Given the description of an element on the screen output the (x, y) to click on. 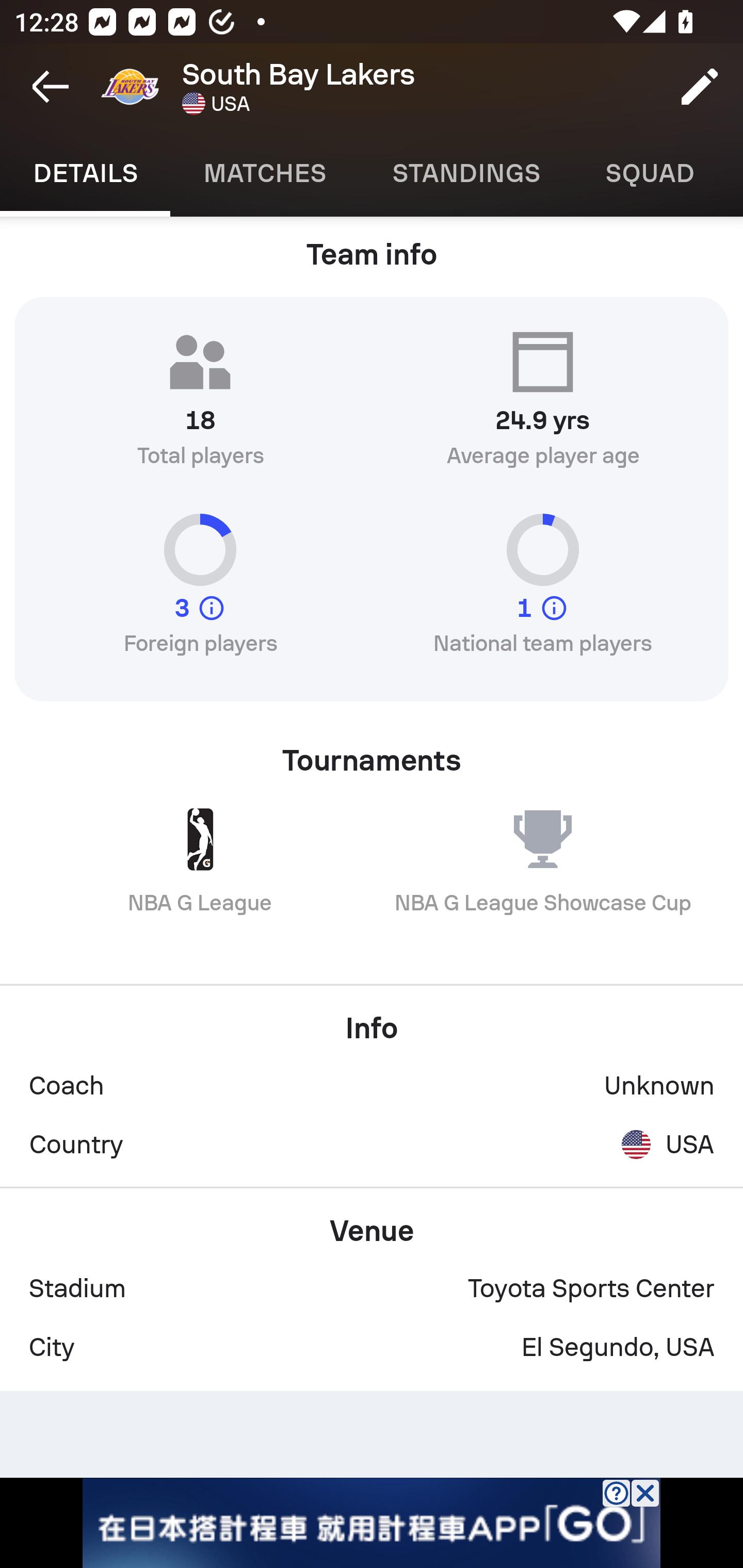
Navigate up (50, 86)
Edit (699, 86)
Matches MATCHES (264, 173)
Standings STANDINGS (465, 173)
Squad SQUAD (650, 173)
3 Foreign players (199, 592)
1 National team players (542, 592)
NBA G League (199, 875)
NBA G League Showcase Cup (542, 875)
xdA0vN2_1708321040149_0 (371, 1522)
